Given the description of an element on the screen output the (x, y) to click on. 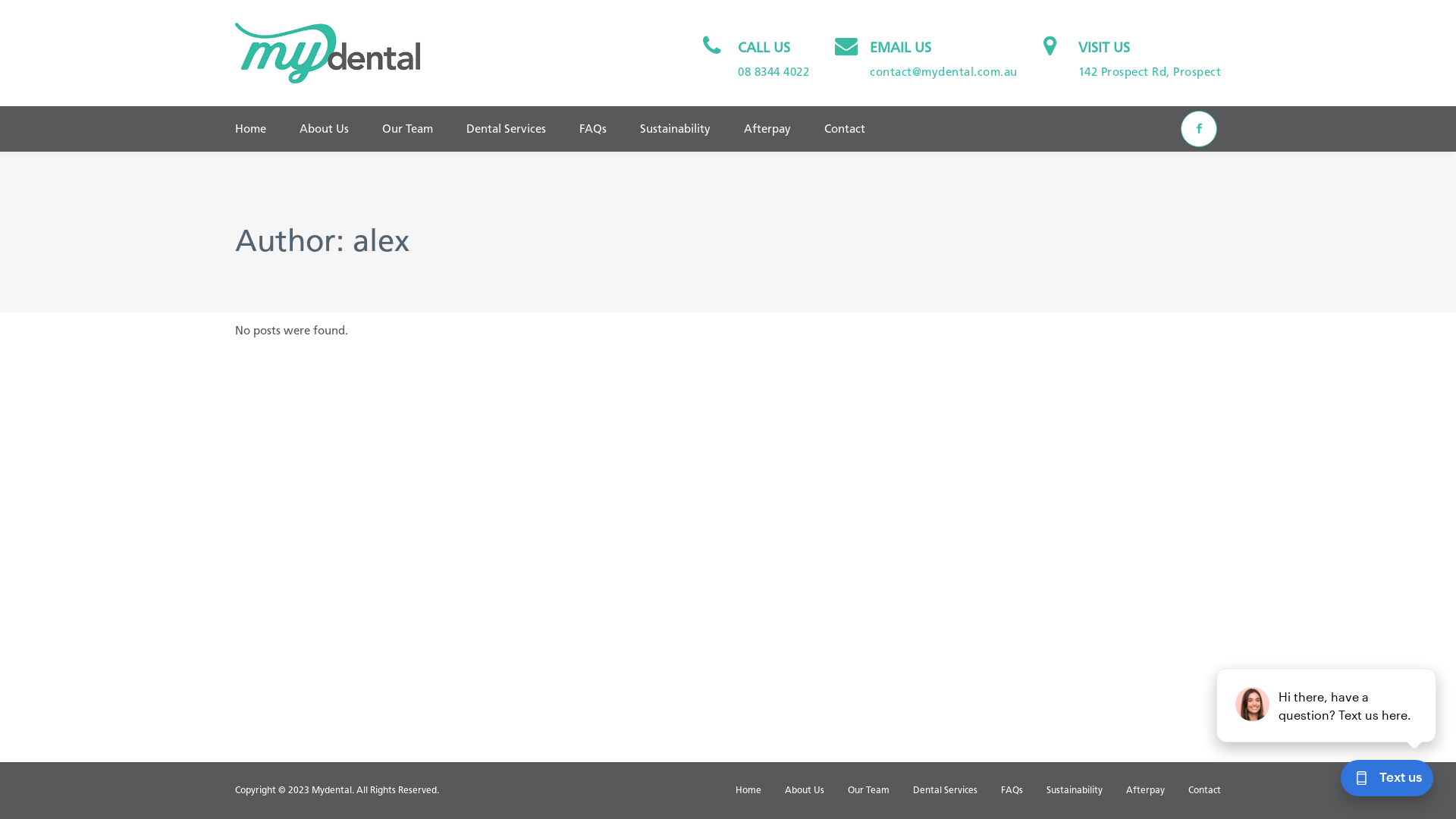
CALL US Element type: text (763, 47)
08 8344 4022 Element type: text (773, 71)
VISIT US Element type: text (1103, 47)
About Us Element type: text (804, 789)
Contact Element type: text (844, 128)
EMAIL US Element type: text (900, 47)
About Us Element type: text (323, 128)
Sustainability Element type: text (675, 128)
Home Element type: text (258, 128)
Afterpay Element type: text (767, 128)
Contact Element type: text (1204, 789)
FAQs Element type: text (1011, 789)
Sustainability Element type: text (1074, 789)
contact@mydental.com.au Element type: text (943, 71)
Dental Services Element type: text (945, 789)
Dental Services Element type: text (505, 128)
142 Prospect Rd, Prospect Element type: text (1149, 71)
Our Team Element type: text (868, 789)
Home Element type: text (748, 789)
Afterpay Element type: text (1145, 789)
Our Team Element type: text (407, 128)
FAQs Element type: text (592, 128)
